Given the description of an element on the screen output the (x, y) to click on. 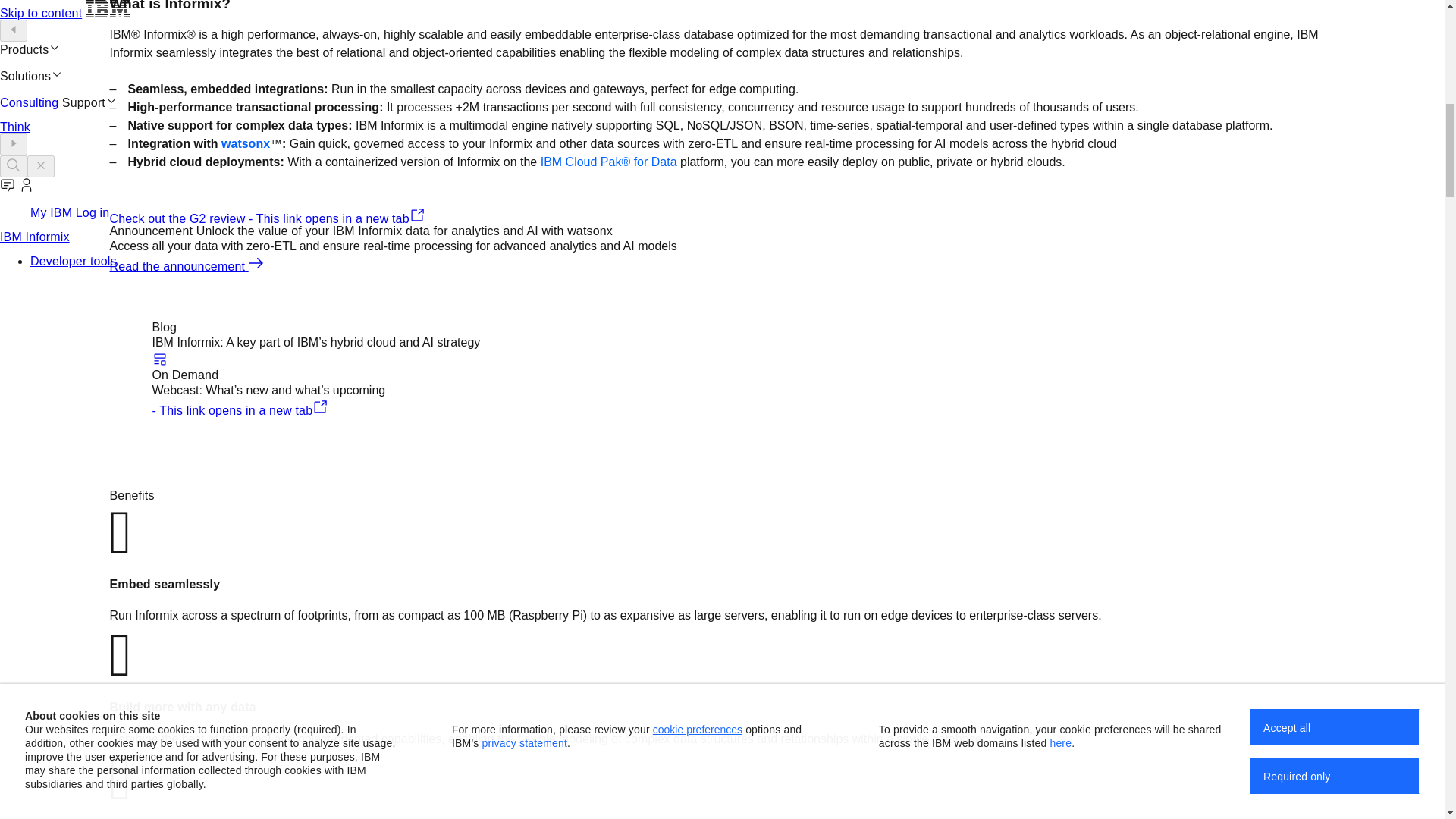
watsonx (245, 142)
